Given the description of an element on the screen output the (x, y) to click on. 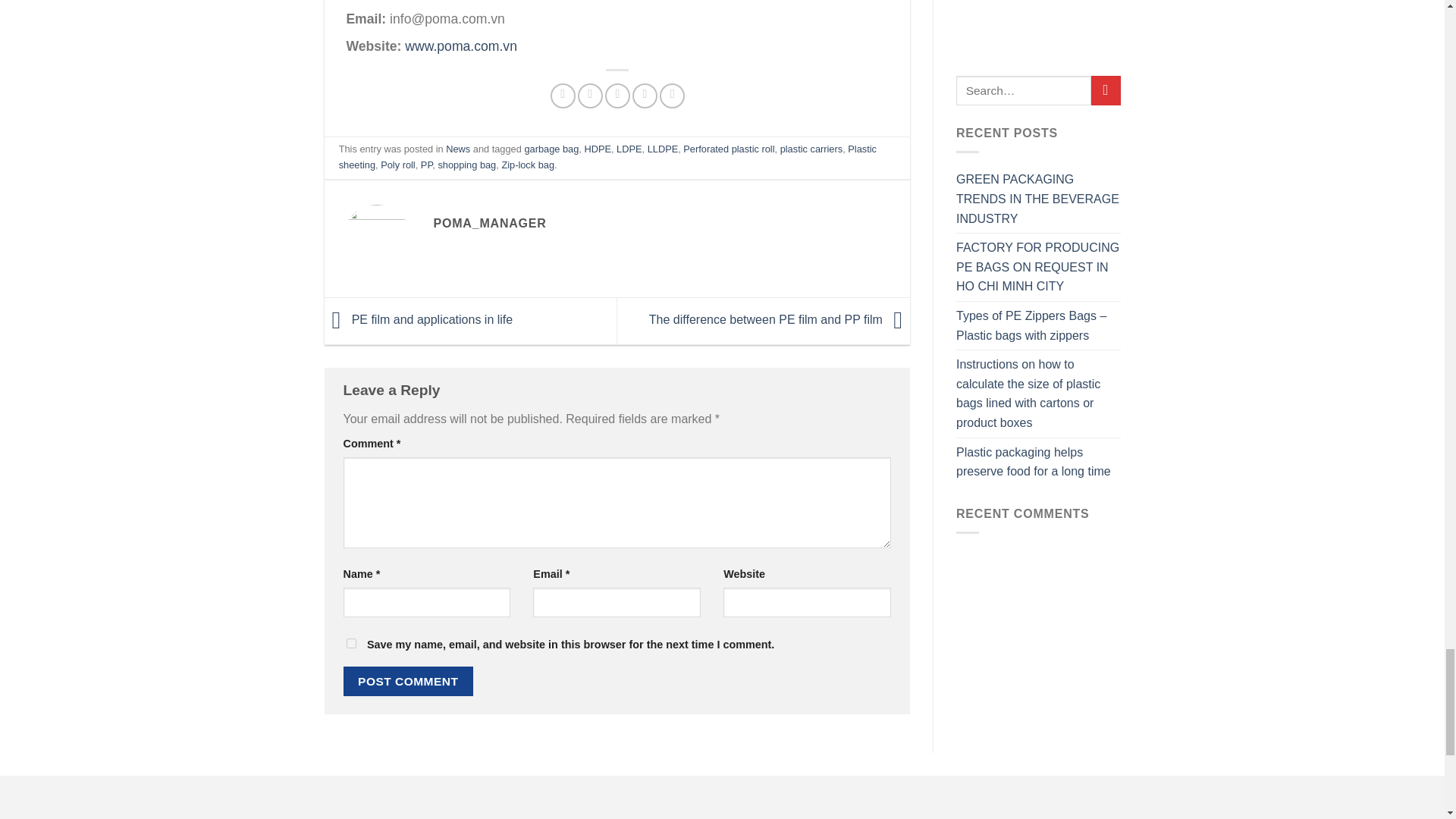
garbage bag (551, 148)
News (457, 148)
Zip-lock bag (527, 164)
PP (426, 164)
Plastic sheeting (607, 156)
The difference between PE film and PP film (779, 319)
Post Comment (407, 681)
yes (350, 643)
Poly roll (397, 164)
www.poma.com.vn (460, 46)
Share on Twitter (590, 95)
Email to a Friend (617, 95)
Share on Facebook (562, 95)
PE film and applications in life (418, 319)
Share on LinkedIn (671, 95)
